Given the description of an element on the screen output the (x, y) to click on. 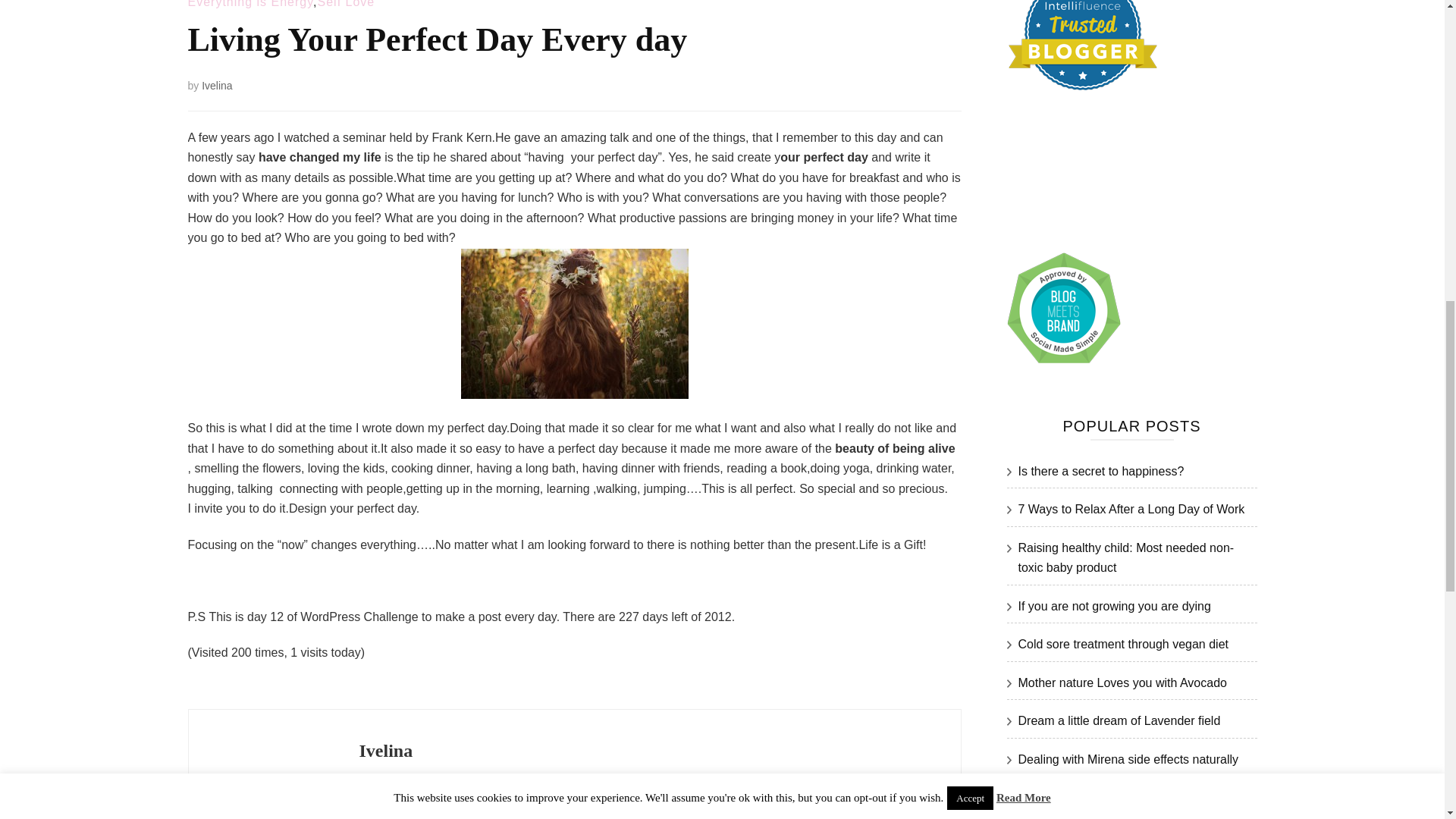
your perfect day (574, 323)
Ivelina (216, 85)
Everything is Energy (250, 4)
Self Love (345, 4)
